Given the description of an element on the screen output the (x, y) to click on. 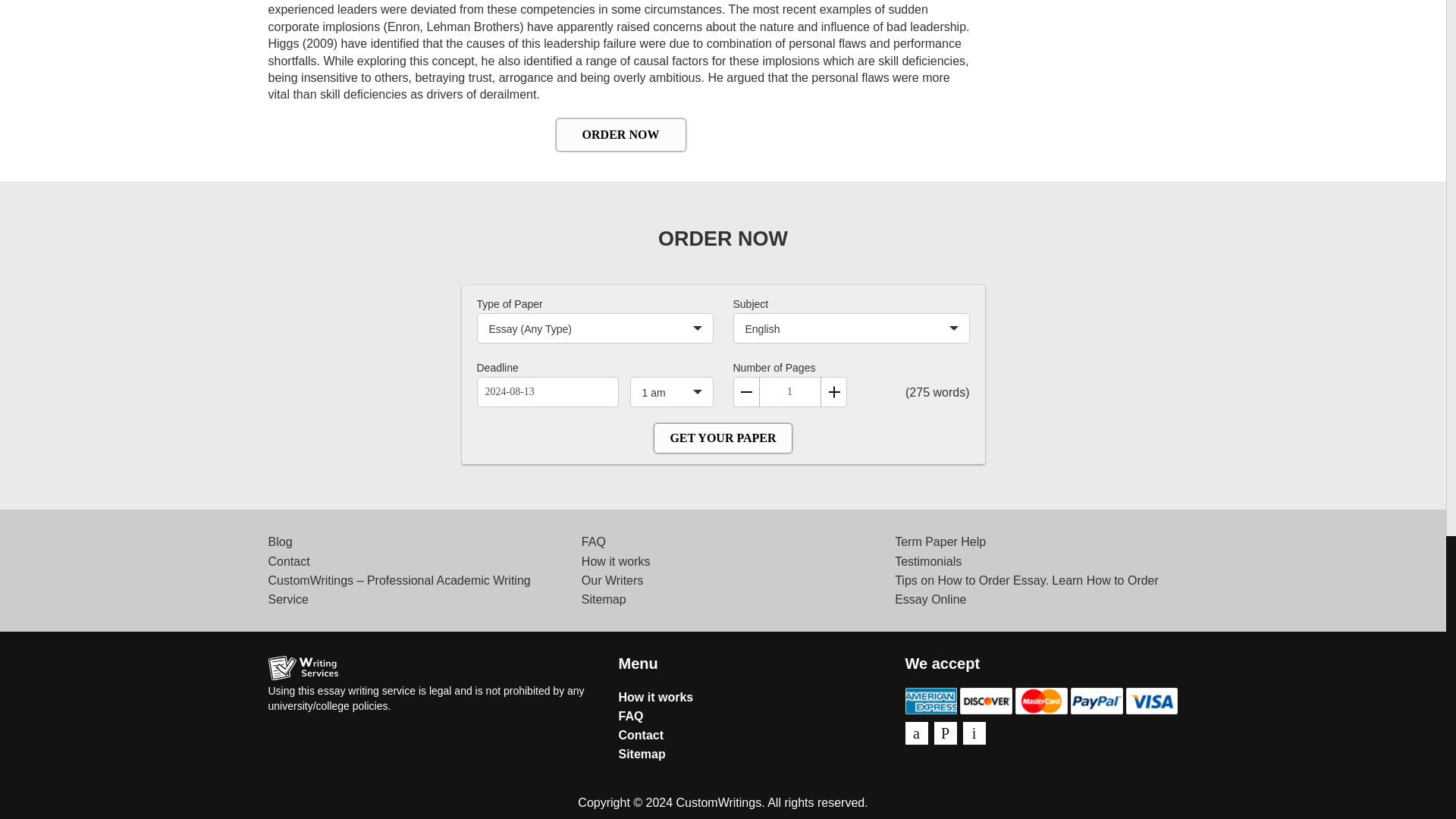
How it works (656, 697)
Blog (279, 541)
ORDER NOW (620, 134)
How it works (615, 561)
Term Paper Help (940, 541)
1 (788, 391)
Testimonials (927, 561)
Contact (288, 561)
Tips on How to Order Essay. Learn How to Order Essay Online (1026, 590)
FAQ (592, 541)
